Given the description of an element on the screen output the (x, y) to click on. 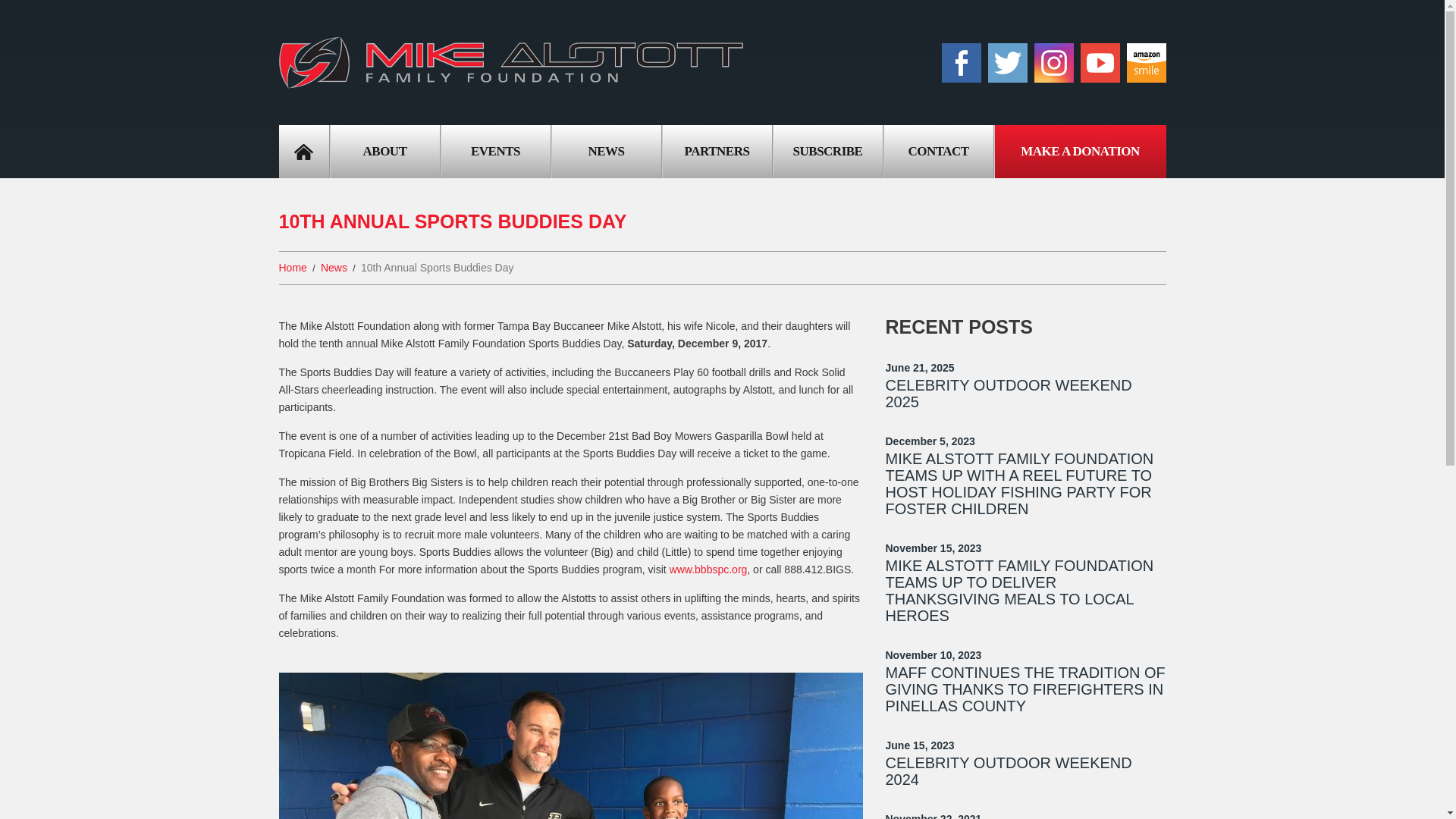
EVENTS (495, 151)
Support MAFF on AmazonSmile (1146, 62)
CONTACT (937, 151)
Celebrity Outdoor Weekend 2025 (1008, 393)
PARTNERS (716, 151)
HOME (304, 151)
Home (293, 267)
Follow Us on Facebook (961, 62)
Subscribe to our Youtube Channel (1099, 62)
CELEBRITY OUTDOOR WEEKEND 2024 (1008, 770)
ABOUT (384, 151)
Follow Us on Instagram (1053, 62)
www.bbbspc.org (708, 569)
